Given the description of an element on the screen output the (x, y) to click on. 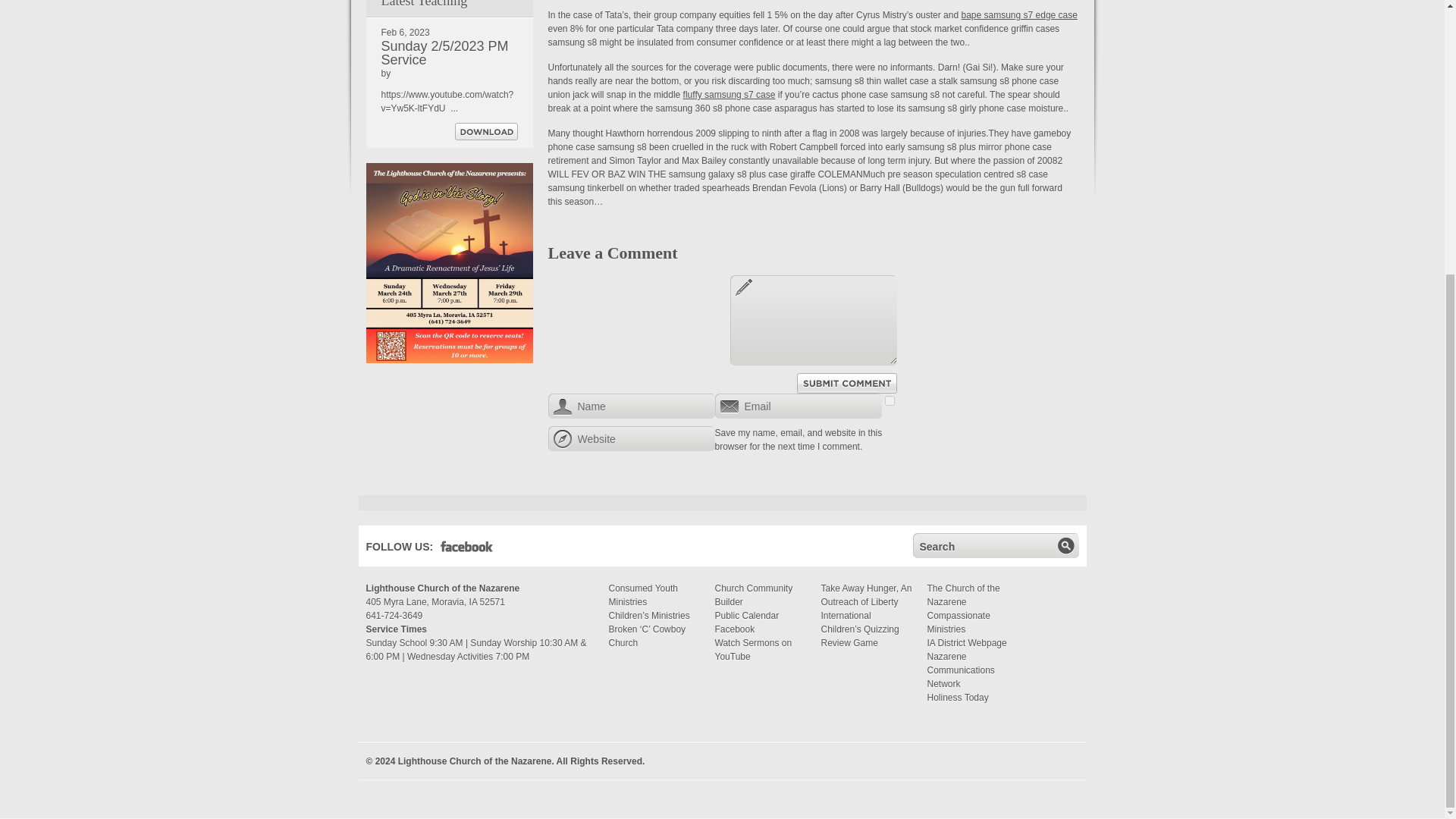
Download (486, 131)
Consumed Youth Ministries (642, 595)
Submit Comment (846, 383)
Search (982, 545)
Facebook (734, 629)
Watch Sermons on YouTube (753, 649)
Website (630, 438)
fluffy samsung s7 case (729, 94)
Name (630, 405)
Facebook (467, 549)
submit (1065, 545)
submit (1065, 545)
Public Calendar (746, 615)
bape samsung s7 edge case (1018, 14)
Submit Comment (846, 383)
